Given the description of an element on the screen output the (x, y) to click on. 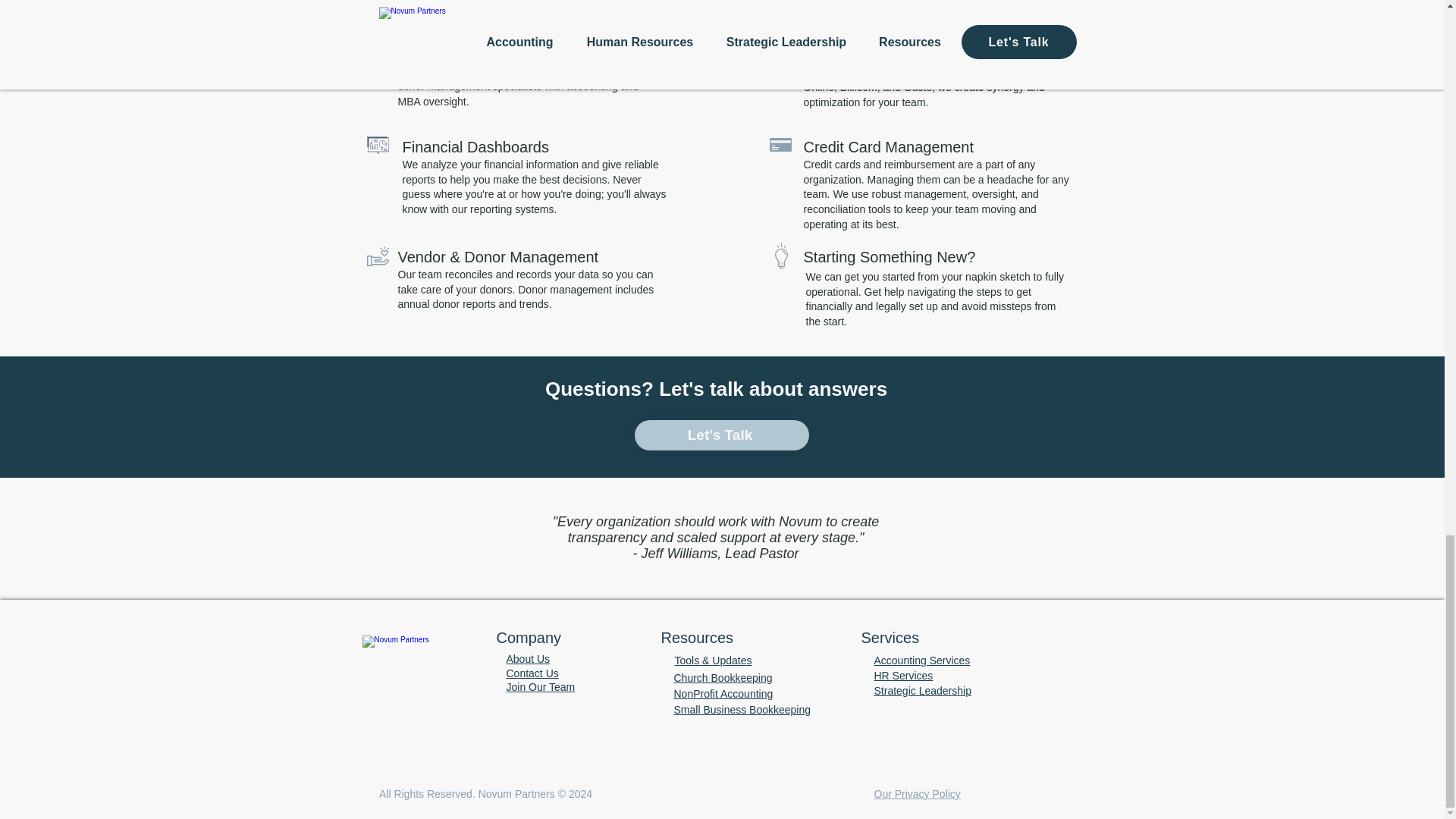
Our Privacy Policy (916, 793)
Church Bookkeeping (721, 677)
Contact Us (532, 673)
NonProfit Accounting (722, 693)
Services (890, 637)
Join Our Team (540, 686)
Strategic Leadership (922, 690)
About Us (528, 658)
Accounting Services (921, 660)
Company (528, 637)
Small Business Bookkeeping (741, 709)
HR Services (903, 675)
Resources (697, 637)
Let's Talk (720, 435)
